Given the description of an element on the screen output the (x, y) to click on. 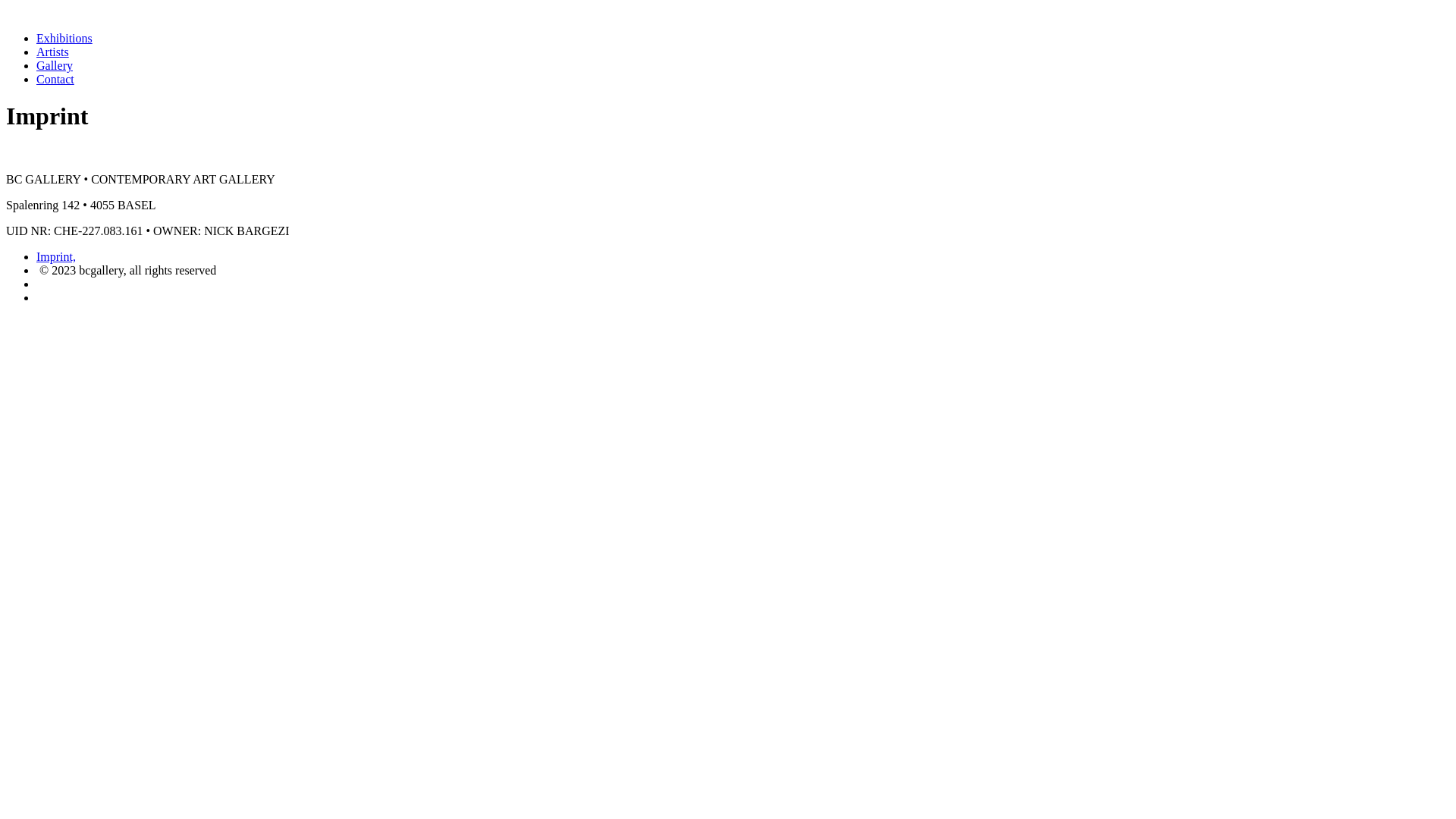
Artists Element type: text (52, 51)
Exhibitions Element type: text (64, 37)
Gallery Element type: text (54, 65)
Imprint, Element type: text (55, 256)
Contact Element type: text (55, 78)
